Given the description of an element on the screen output the (x, y) to click on. 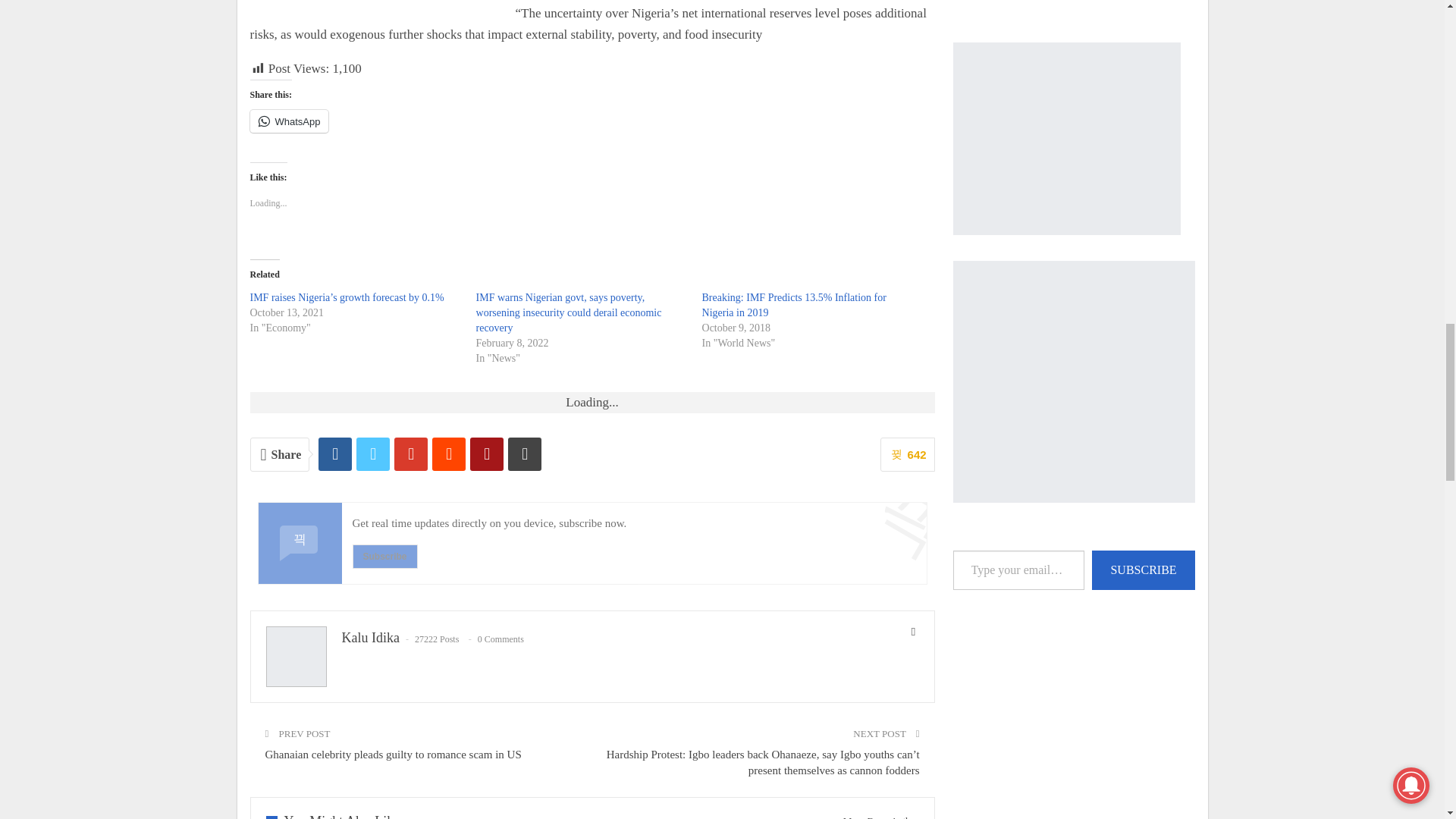
Click to share on WhatsApp (289, 120)
